Given the description of an element on the screen output the (x, y) to click on. 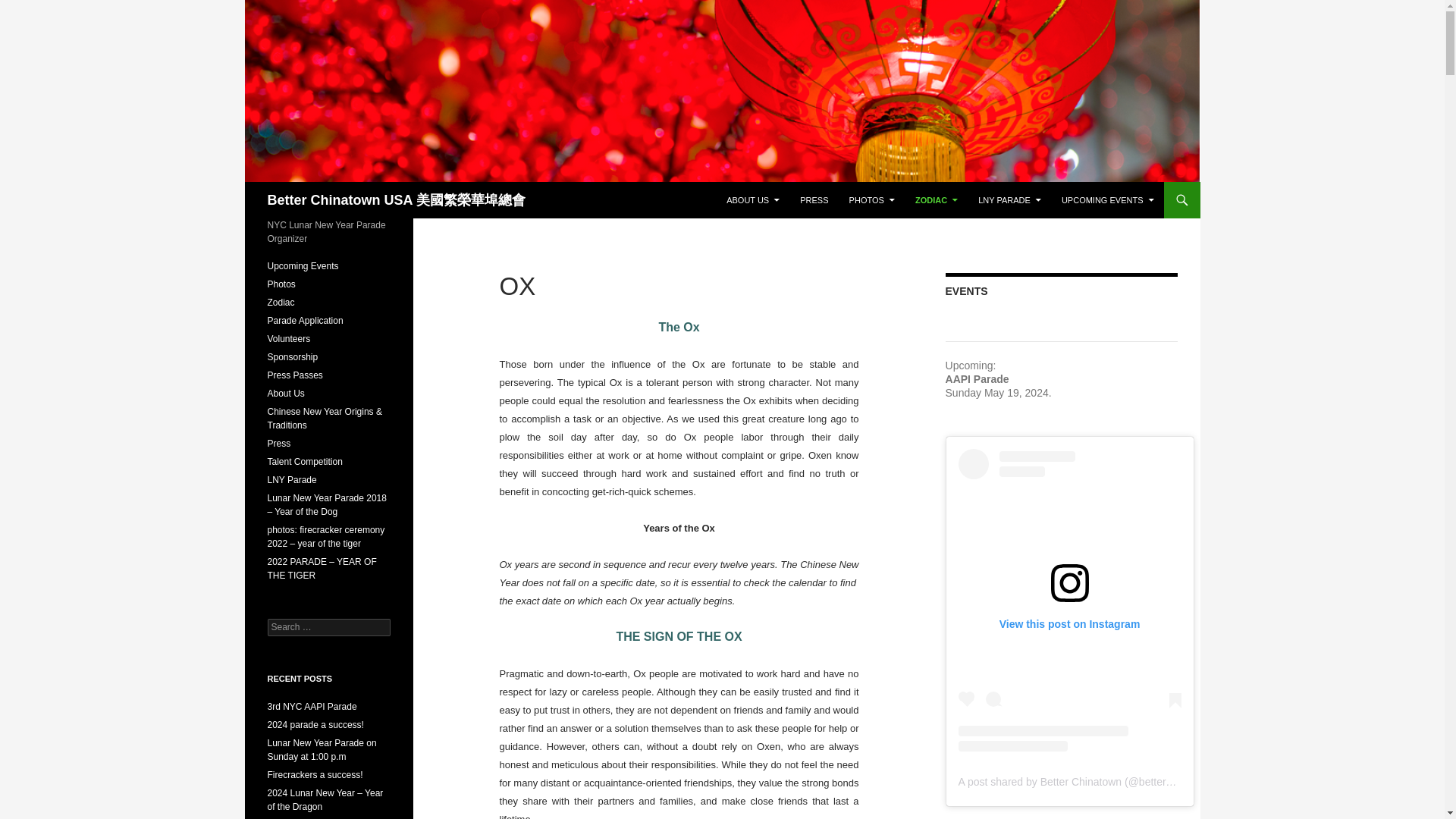
Upcoming Events (301, 266)
ABOUT US (753, 199)
PHOTOS (872, 199)
PRESS (813, 199)
Volunteers (288, 338)
Photos (280, 284)
LNY PARADE (1009, 199)
ZODIAC (935, 199)
UPCOMING EVENTS (1107, 199)
Zodiac (280, 302)
Parade Application (304, 320)
